Given the description of an element on the screen output the (x, y) to click on. 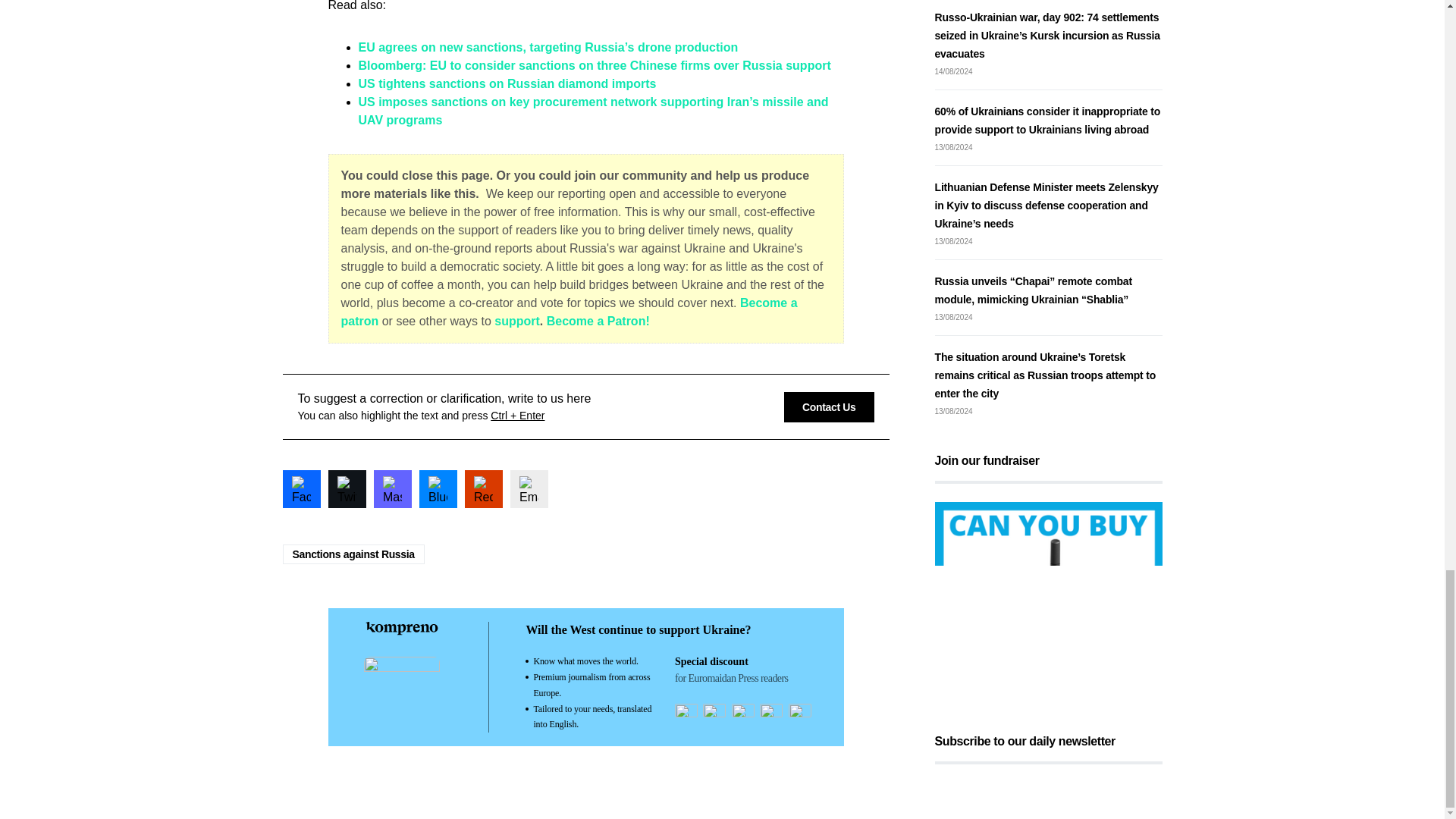
Share to Facebook (301, 488)
Share to Twitter (346, 488)
Share to Bluesky (438, 488)
Share to Mastodon (391, 488)
Share to Email (528, 488)
Share to Reddit (483, 488)
